Given the description of an element on the screen output the (x, y) to click on. 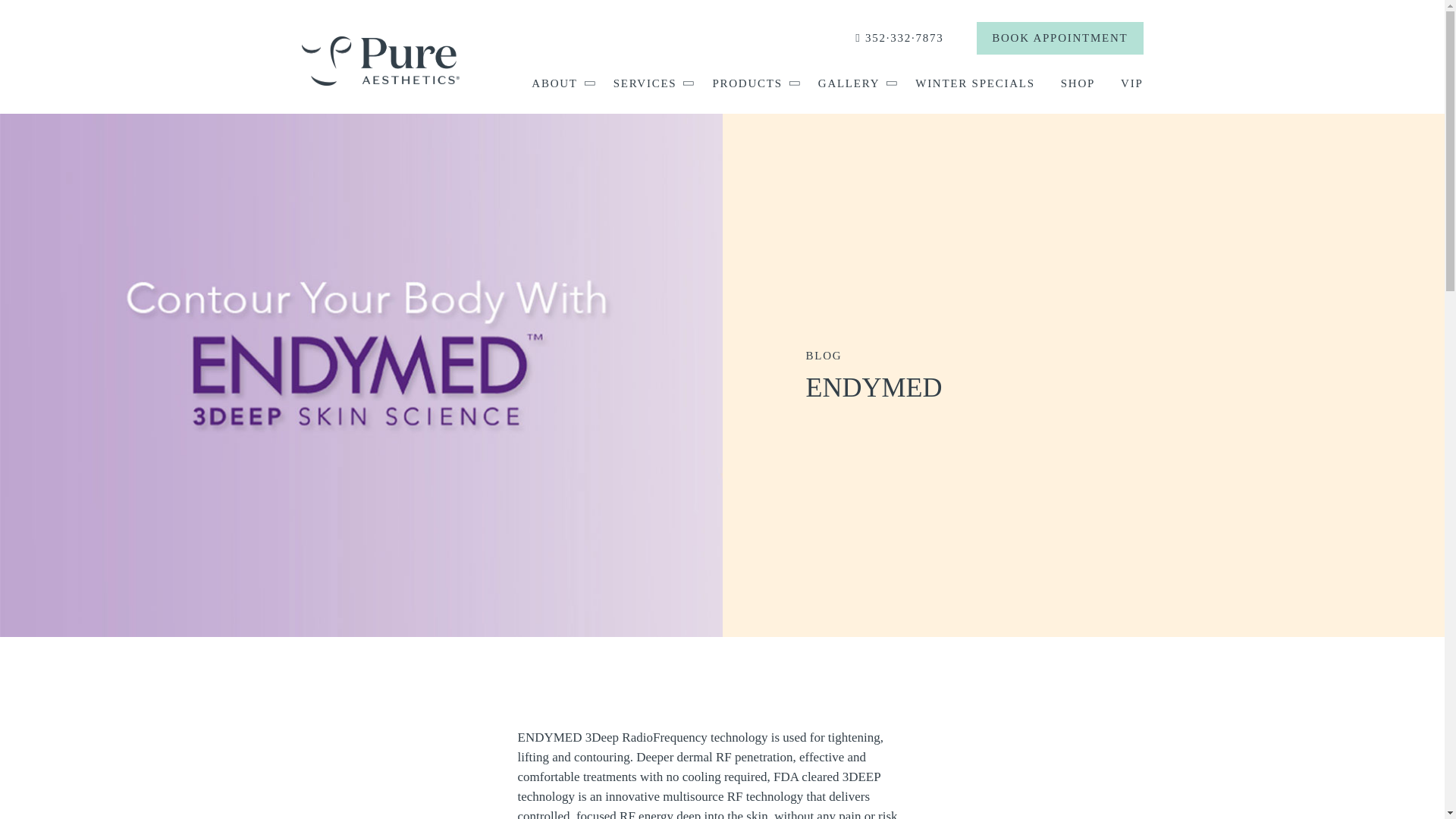
SERVICES (649, 83)
ABOUT (558, 83)
BOOK APPOINTMENT (1059, 38)
